Given the description of an element on the screen output the (x, y) to click on. 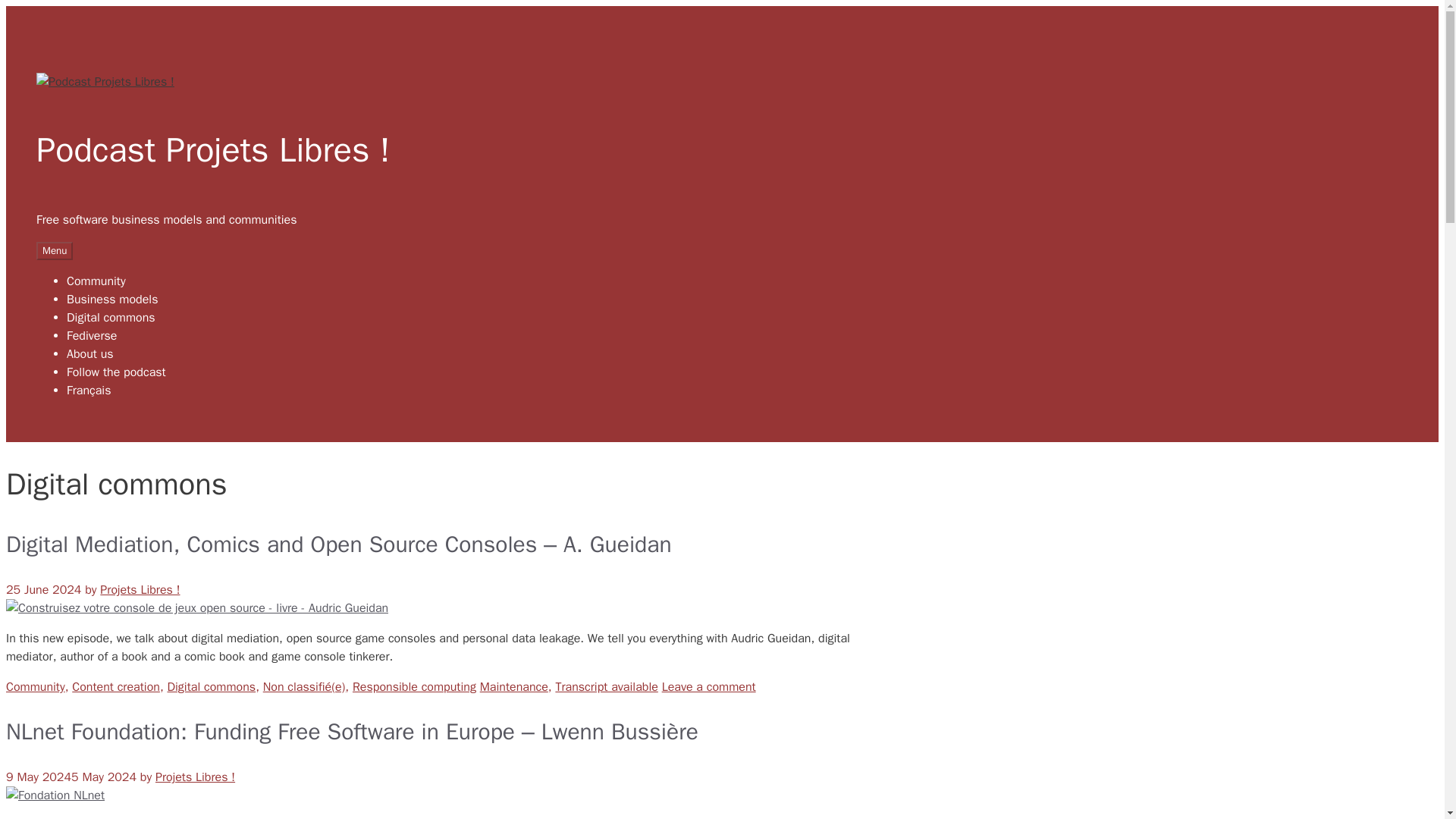
Menu (54, 249)
View all posts by Projets Libres ! (194, 776)
Leave a comment (708, 686)
About us (89, 353)
Business models (111, 298)
Projets Libres ! (194, 776)
View all posts by Projets Libres ! (139, 589)
Follow the podcast (115, 371)
Transcript available (606, 686)
Digital commons (211, 686)
